Given the description of an element on the screen output the (x, y) to click on. 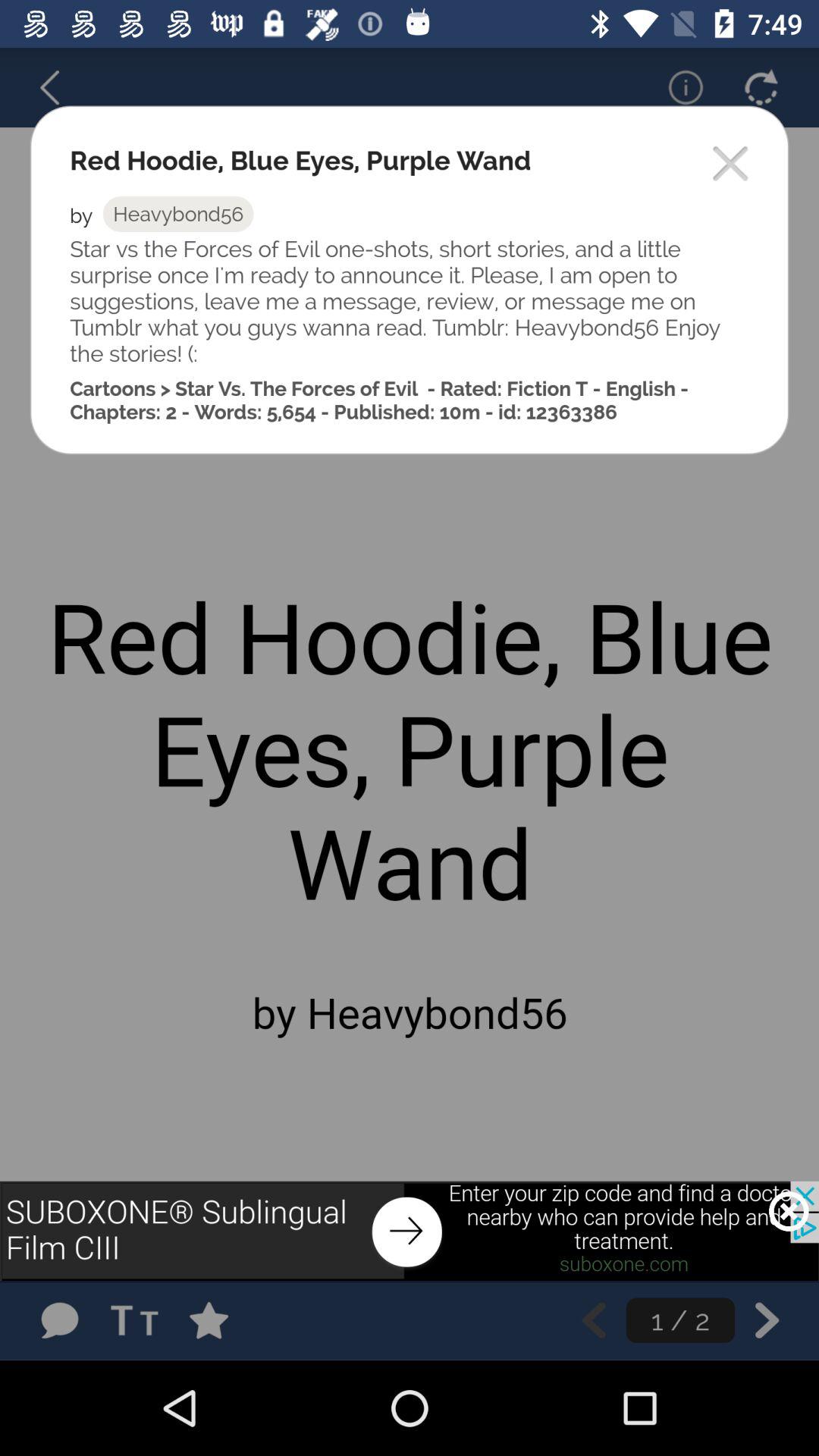
go to previous (593, 1320)
